Given the description of an element on the screen output the (x, y) to click on. 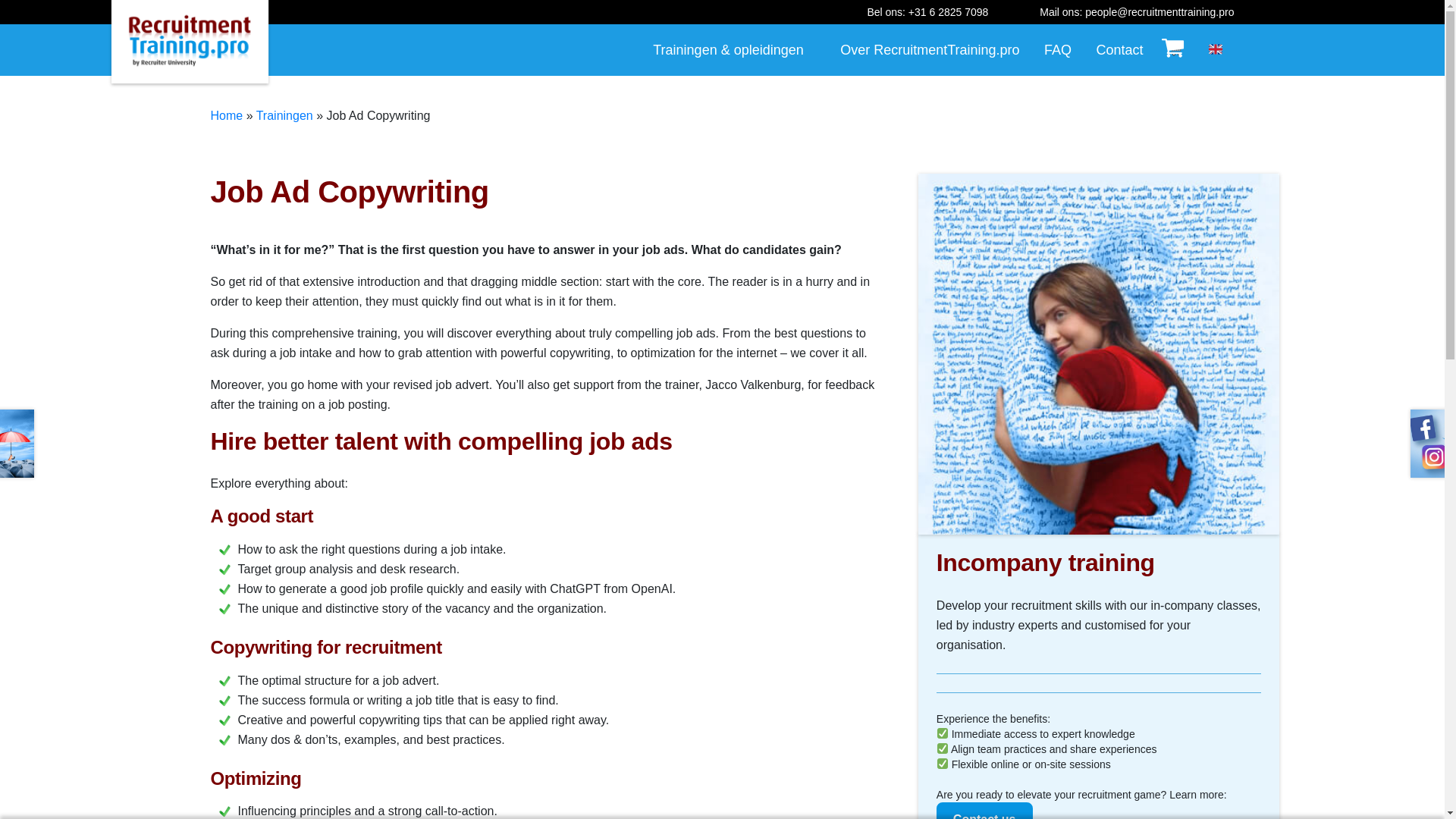
FAQ (1057, 50)
Home (227, 115)
Contact us (984, 810)
Trainingen (284, 115)
Over RecruitmentTraining.pro (929, 50)
FAQ (1057, 50)
Vacatureteksten Schrijven (1098, 354)
Contact (1120, 50)
Over RecruitmentTraining.pro (929, 50)
Contact (1120, 50)
